Given the description of an element on the screen output the (x, y) to click on. 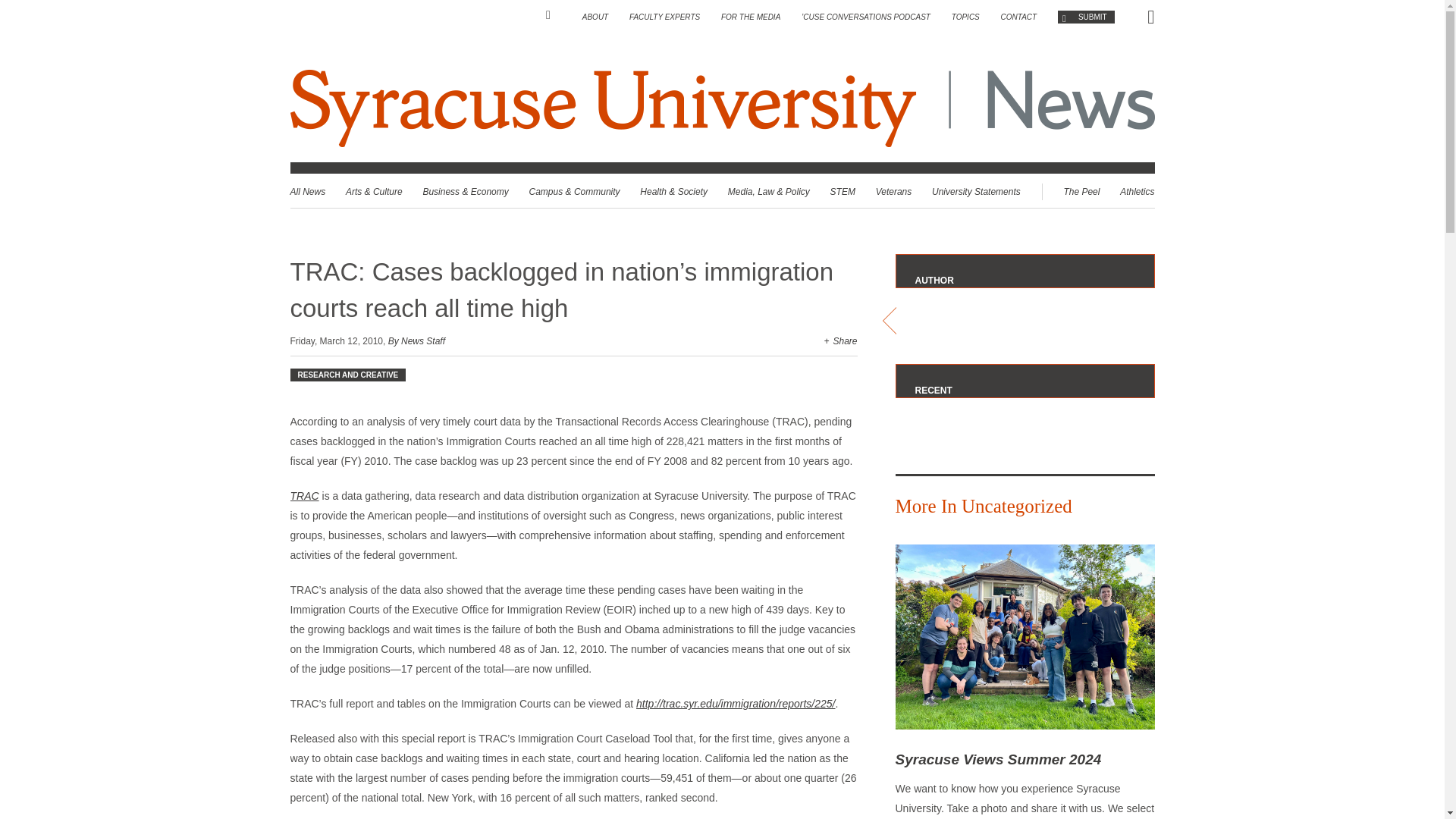
TOPICS (965, 17)
Veterans (894, 191)
SUBMIT (1086, 16)
Syracuse University News (721, 108)
Faculty Experts (664, 17)
Syracuse University (604, 108)
FACULTY EXPERTS (664, 17)
Submit (1086, 16)
The Peel (1080, 191)
University Statements (975, 191)
STEM (842, 191)
CONTACT (1018, 17)
About (595, 17)
For The Media (750, 17)
Topics (965, 17)
